Given the description of an element on the screen output the (x, y) to click on. 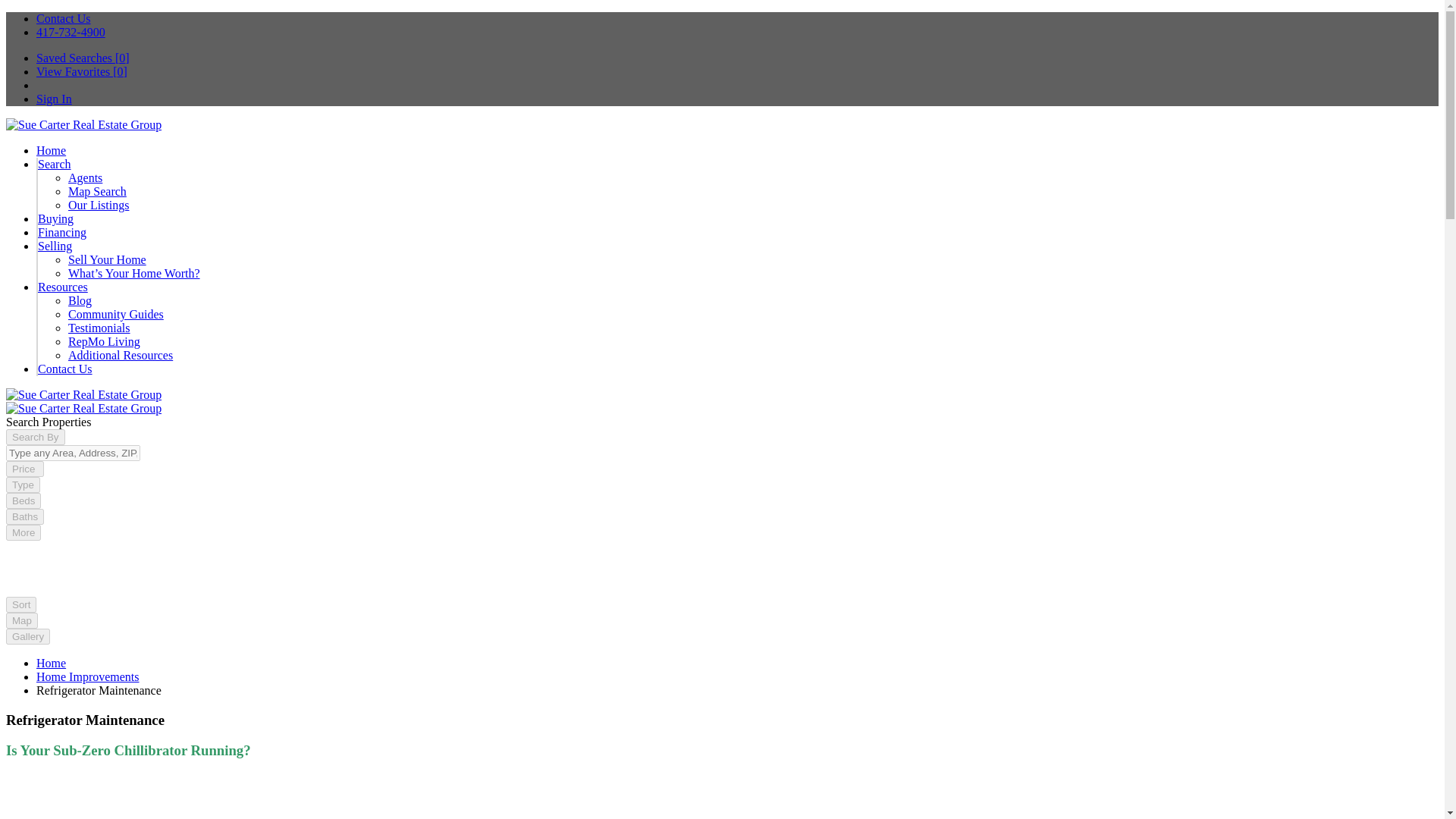
Price  (24, 468)
Additional Resources (120, 354)
Blog (79, 300)
Community Guides (115, 314)
Agents (84, 177)
Sign In (53, 98)
Map (21, 620)
Financing (61, 232)
Gallery (27, 635)
Beds (22, 500)
Buying (55, 218)
Selling (54, 245)
Search (54, 164)
Home (50, 150)
Baths (24, 516)
